Given the description of an element on the screen output the (x, y) to click on. 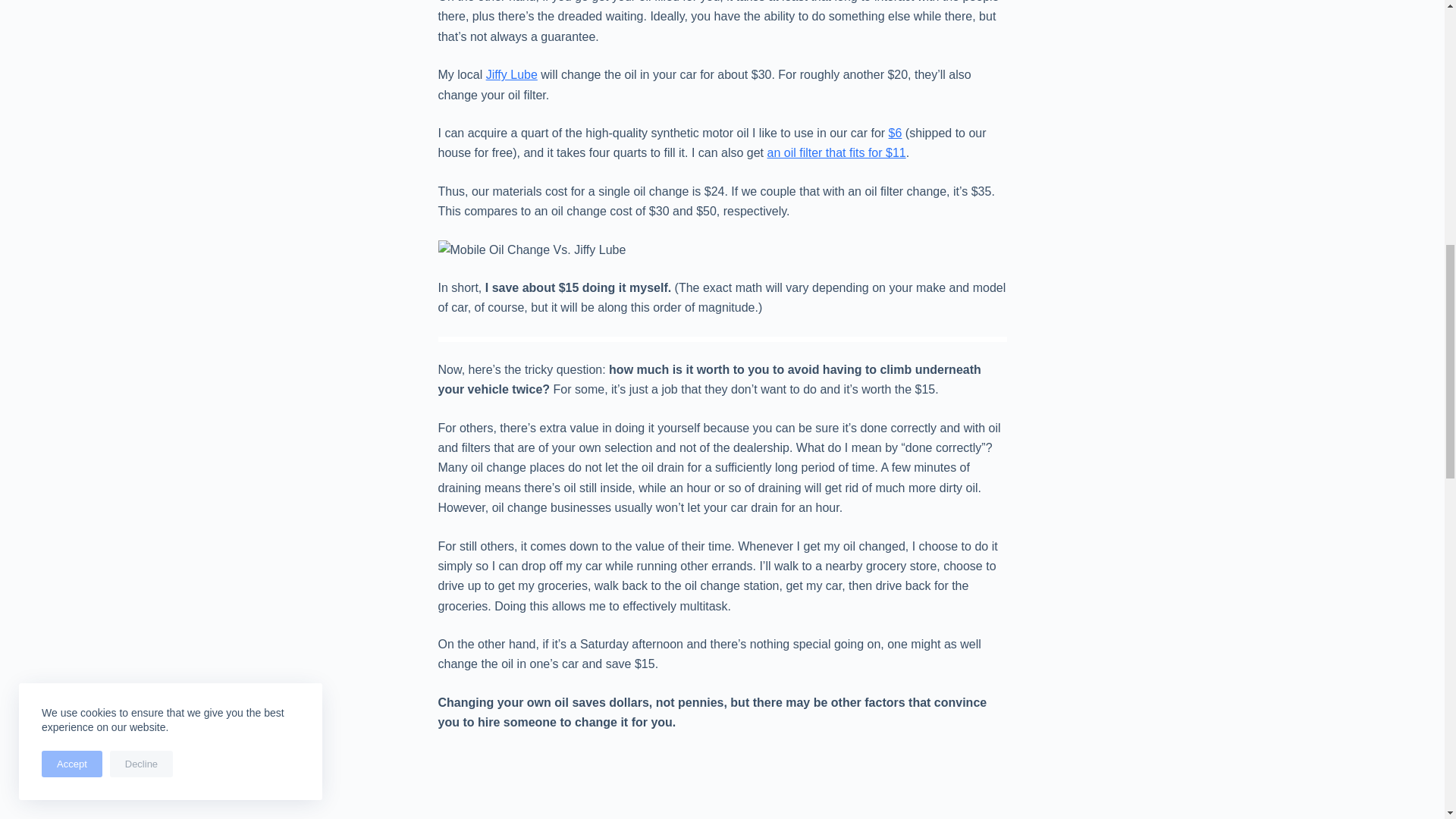
Mobile Oil Change Vs. Jiffy Lube (532, 250)
